Given the description of an element on the screen output the (x, y) to click on. 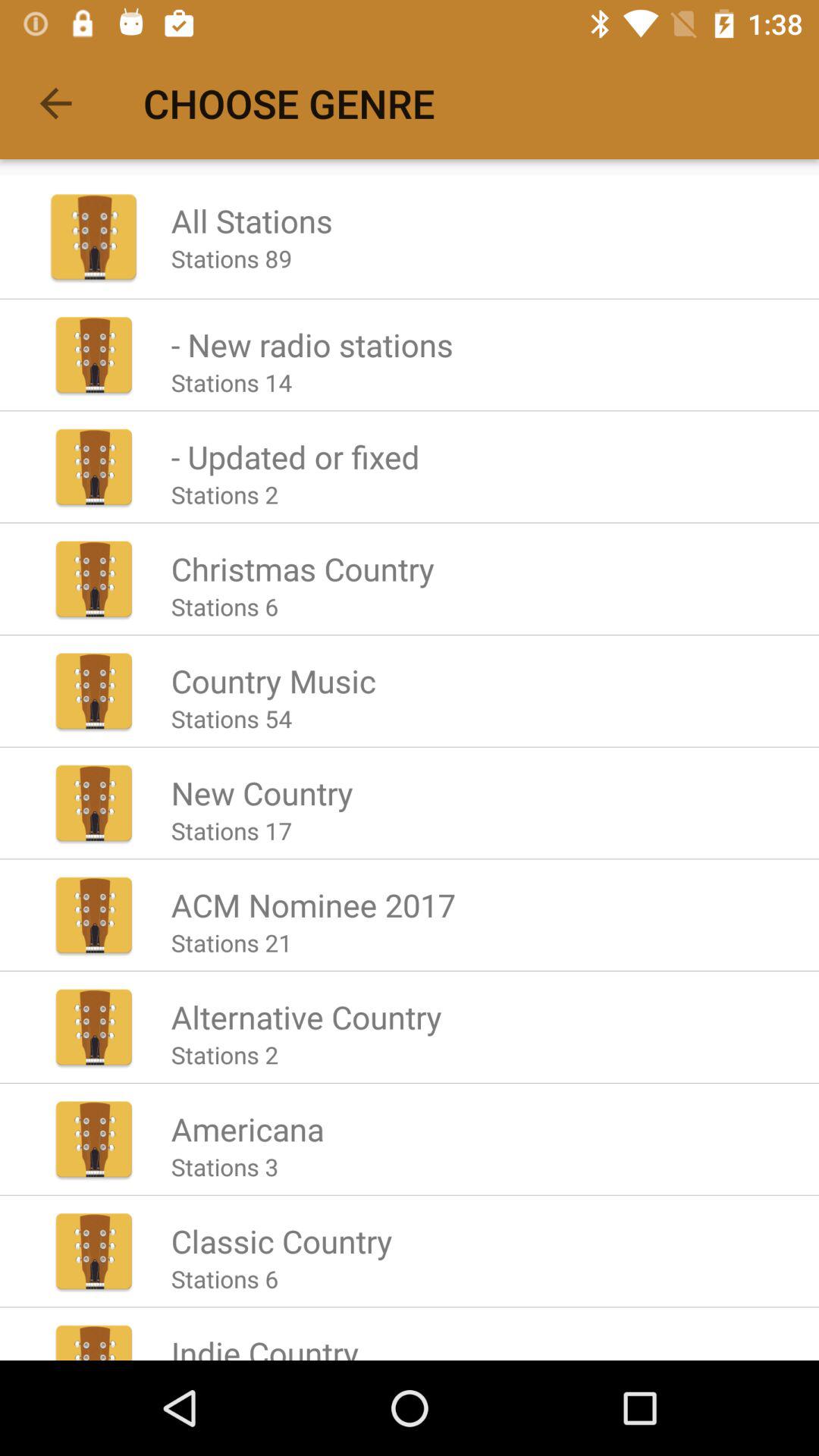
scroll until all stations (251, 220)
